Given the description of an element on the screen output the (x, y) to click on. 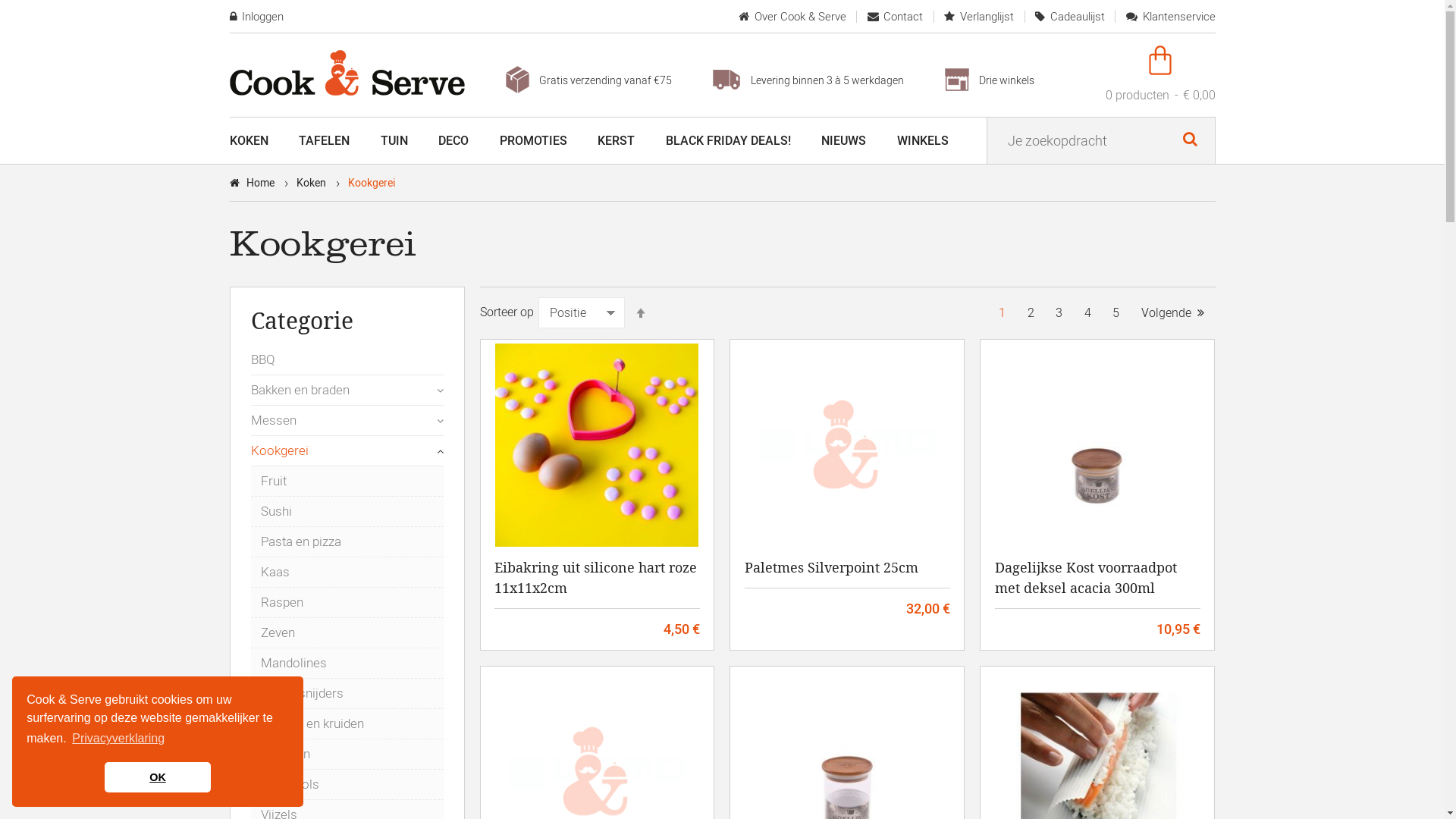
4 Element type: text (1087, 313)
Raspen Element type: text (346, 602)
Cadeaulijst Element type: text (1069, 16)
DECO Element type: text (453, 140)
Handtools Element type: text (346, 784)
Fruit Element type: text (346, 480)
Bewaren Element type: text (346, 753)
Pasta en pizza Element type: text (346, 541)
BLACK FRIDAY DEALS! Element type: text (727, 140)
Volgende   Element type: text (1171, 313)
TAFELEN Element type: text (323, 140)
Over Cook & Serve Element type: text (792, 16)
Sushi Element type: text (346, 511)
Spirellisnijders Element type: text (346, 693)
NIEUWS Element type: text (843, 140)
Zeven Element type: text (346, 632)
2 Element type: text (1029, 313)
Klantenservice Element type: text (1170, 16)
TUIN Element type: text (393, 140)
Kookgerei Element type: text (278, 451)
OK Element type: text (157, 777)
Messen Element type: text (272, 420)
Privacyverklaring Element type: text (117, 738)
Kaas Element type: text (346, 571)
KERST Element type: text (615, 140)
Contact Element type: text (895, 16)
Inloggen Element type: text (256, 16)
Home Element type: text (259, 182)
Koken Element type: text (310, 182)
Bakken en braden Element type: text (299, 390)
3 Element type: text (1058, 313)
BBQ Element type: text (346, 359)
PROMOTIES Element type: text (532, 140)
WINKELS Element type: text (921, 140)
5 Element type: text (1115, 313)
Mandolines Element type: text (346, 662)
Verlanglijst Element type: text (978, 16)
Van hoog naar laag sorteren Element type: text (640, 313)
Molens en kruiden Element type: text (346, 723)
KOKEN Element type: text (248, 140)
